Given the description of an element on the screen output the (x, y) to click on. 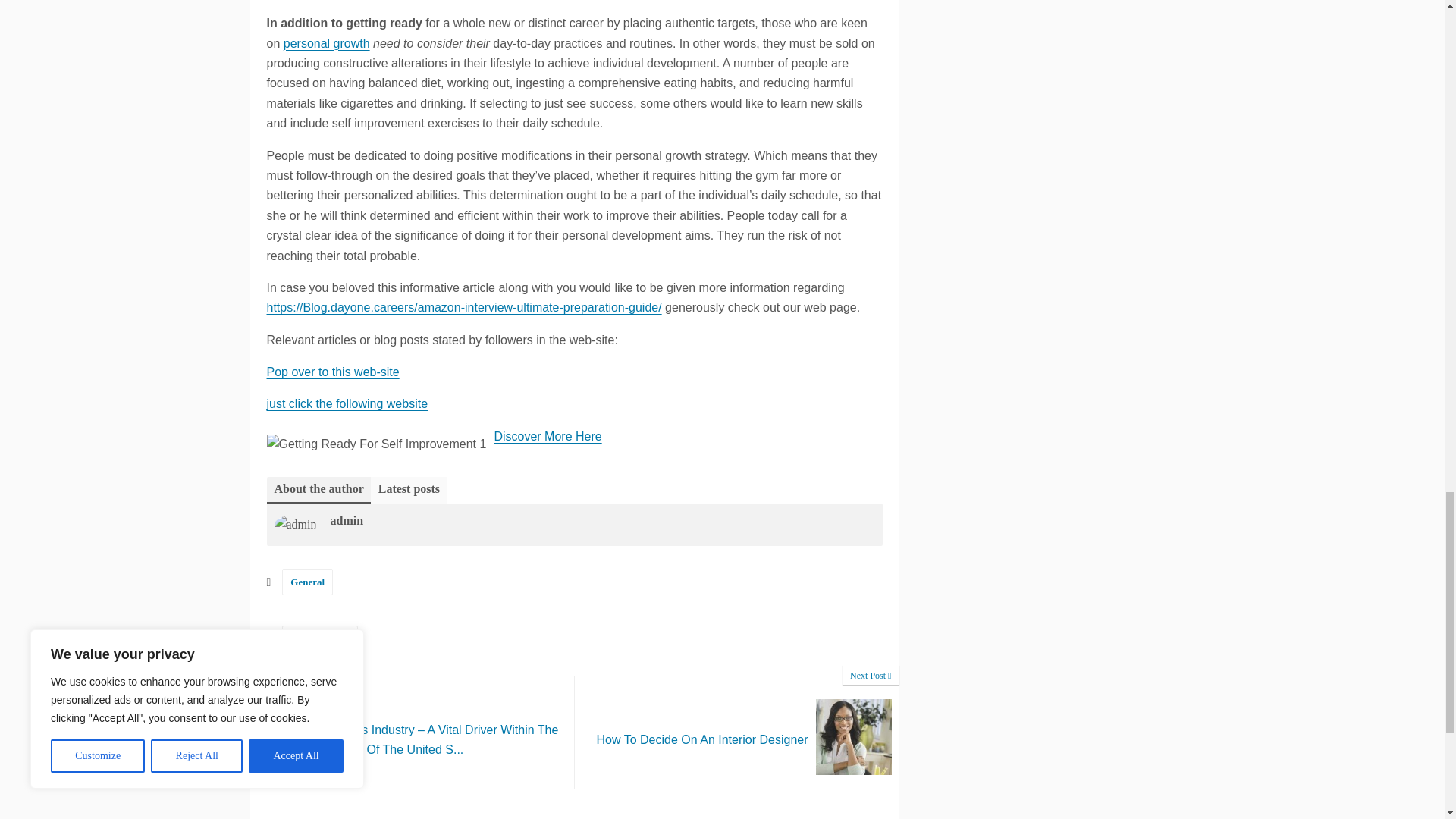
Discover More Here (547, 436)
Pop over to this web-site (737, 732)
How To Decide On An Interior Designer (332, 371)
personal growth (737, 732)
General (326, 42)
just click the following website (307, 581)
